Given the description of an element on the screen output the (x, y) to click on. 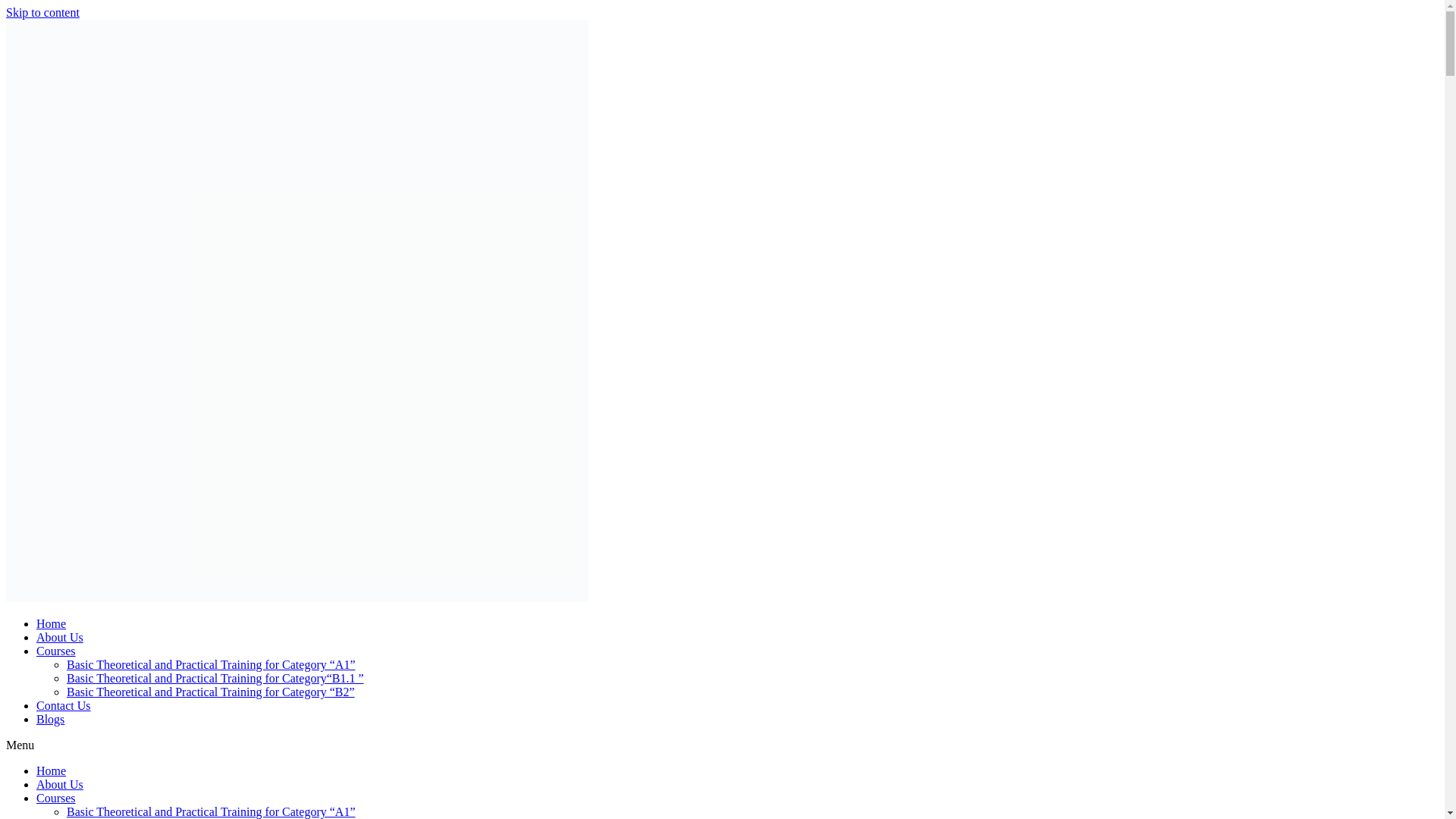
Courses (55, 797)
Home (50, 770)
Skip to content (42, 11)
Contact Us (63, 705)
Home (50, 623)
About Us (59, 636)
Blogs (50, 718)
About Us (59, 784)
Courses (55, 650)
